Given the description of an element on the screen output the (x, y) to click on. 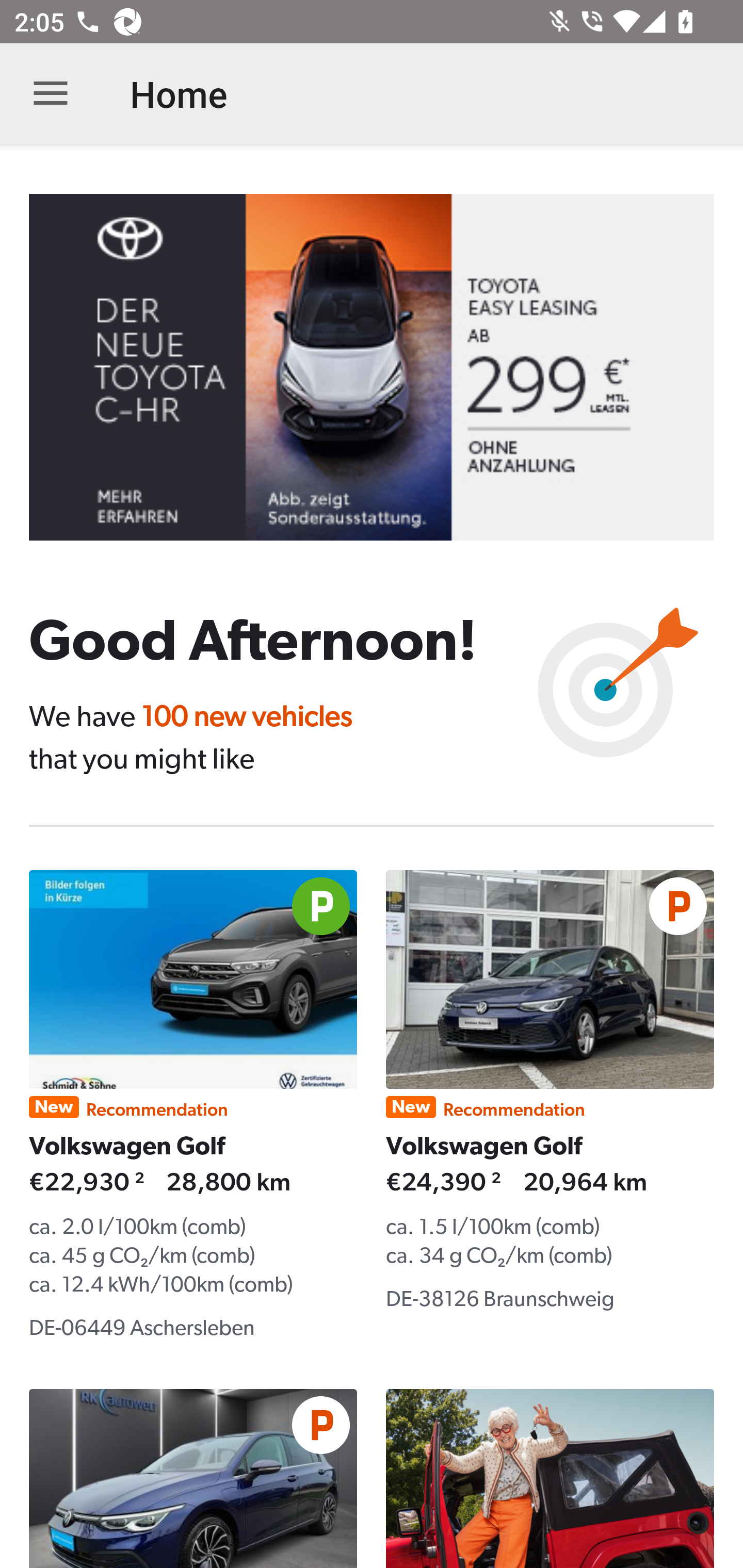
Open navigation bar (50, 93)
B31340770 (385, 367)
